Given the description of an element on the screen output the (x, y) to click on. 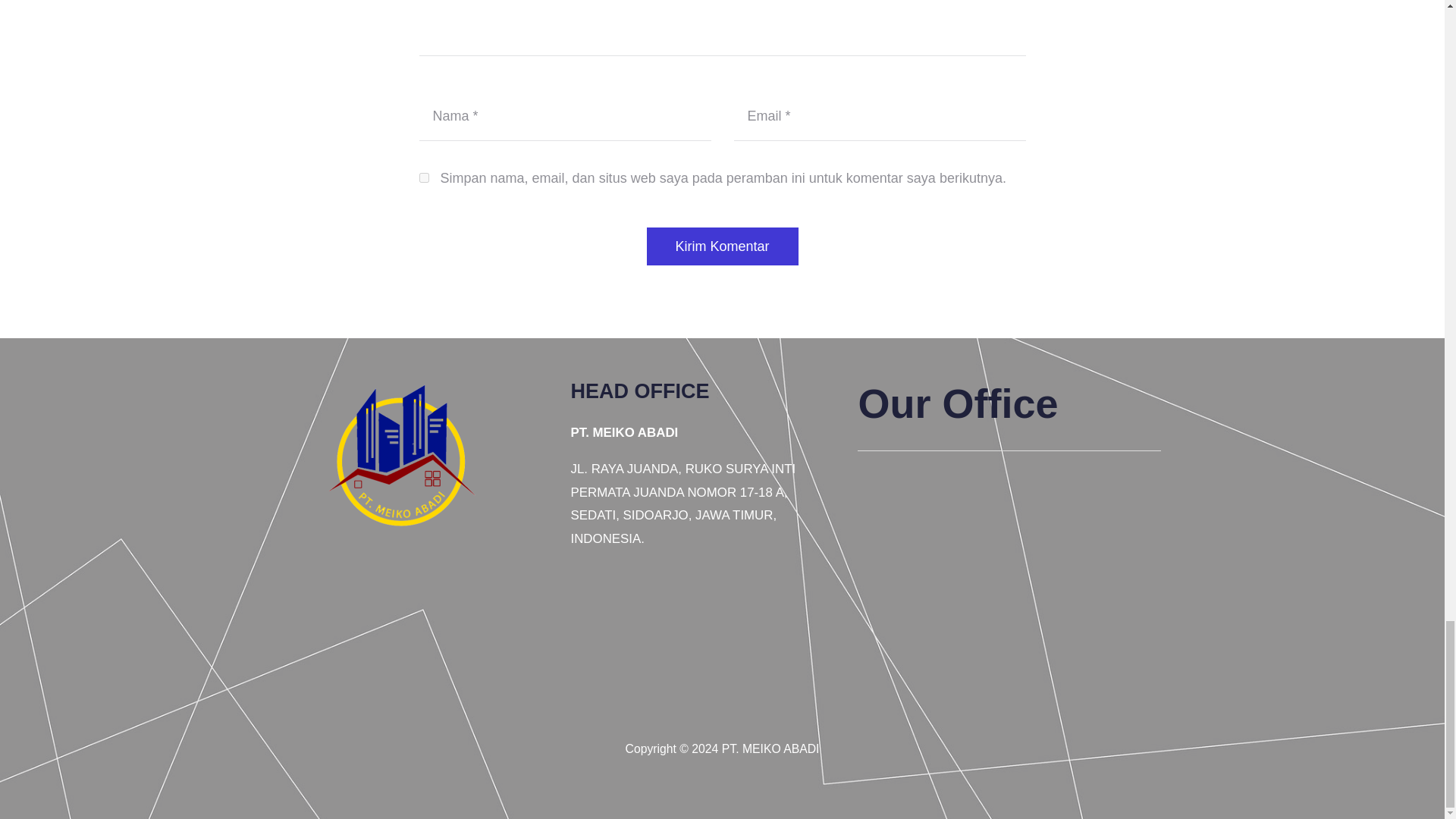
Kirim Komentar (721, 246)
yes (423, 177)
